Given the description of an element on the screen output the (x, y) to click on. 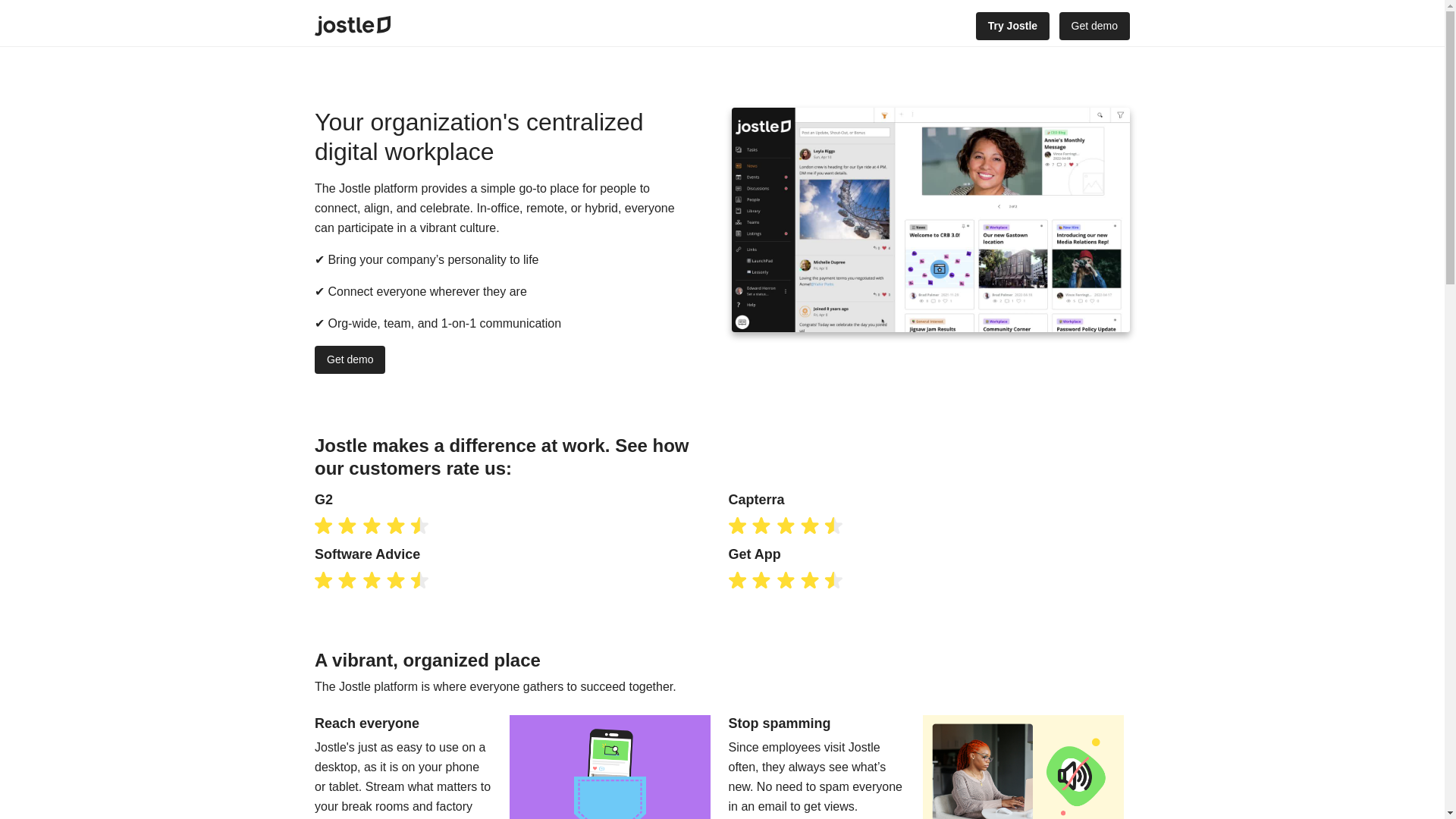
Try Jostle (1012, 26)
Get demo (349, 359)
Get demo (1094, 26)
